Given the description of an element on the screen output the (x, y) to click on. 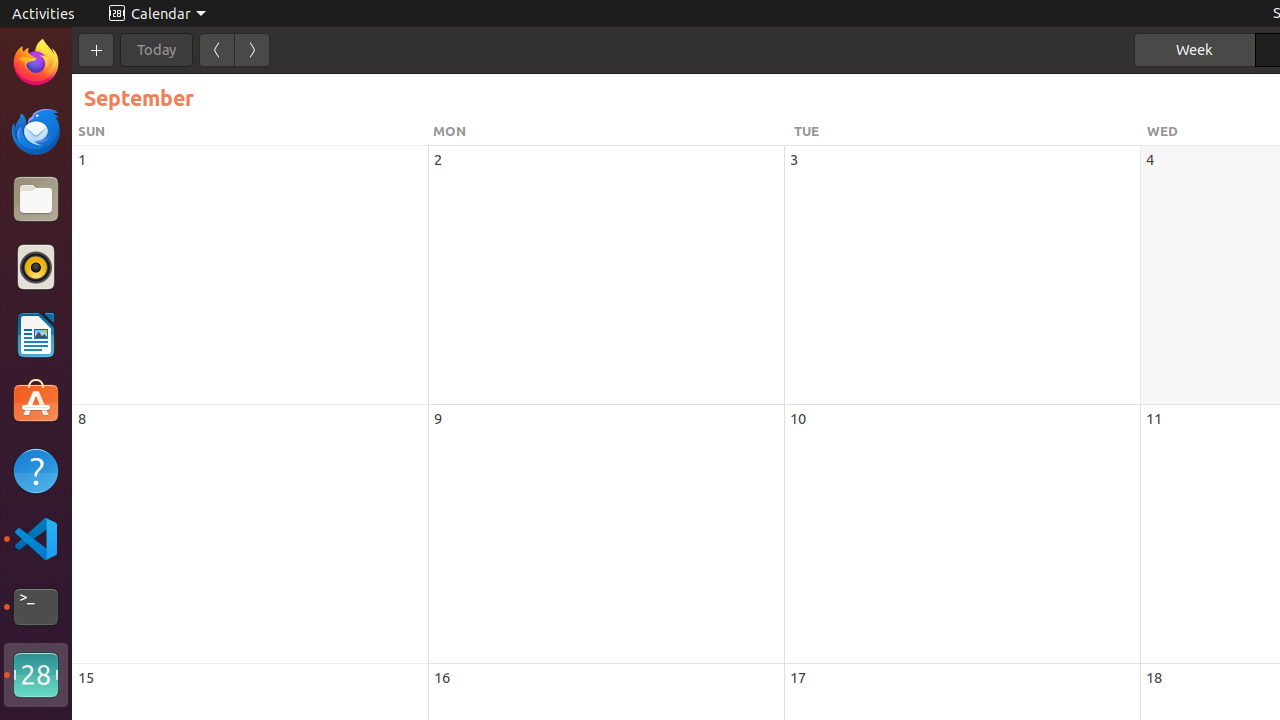
18 Element type: label (1154, 677)
8 Element type: label (82, 418)
9 Element type: label (438, 418)
TUE Element type: label (967, 131)
